Given the description of an element on the screen output the (x, y) to click on. 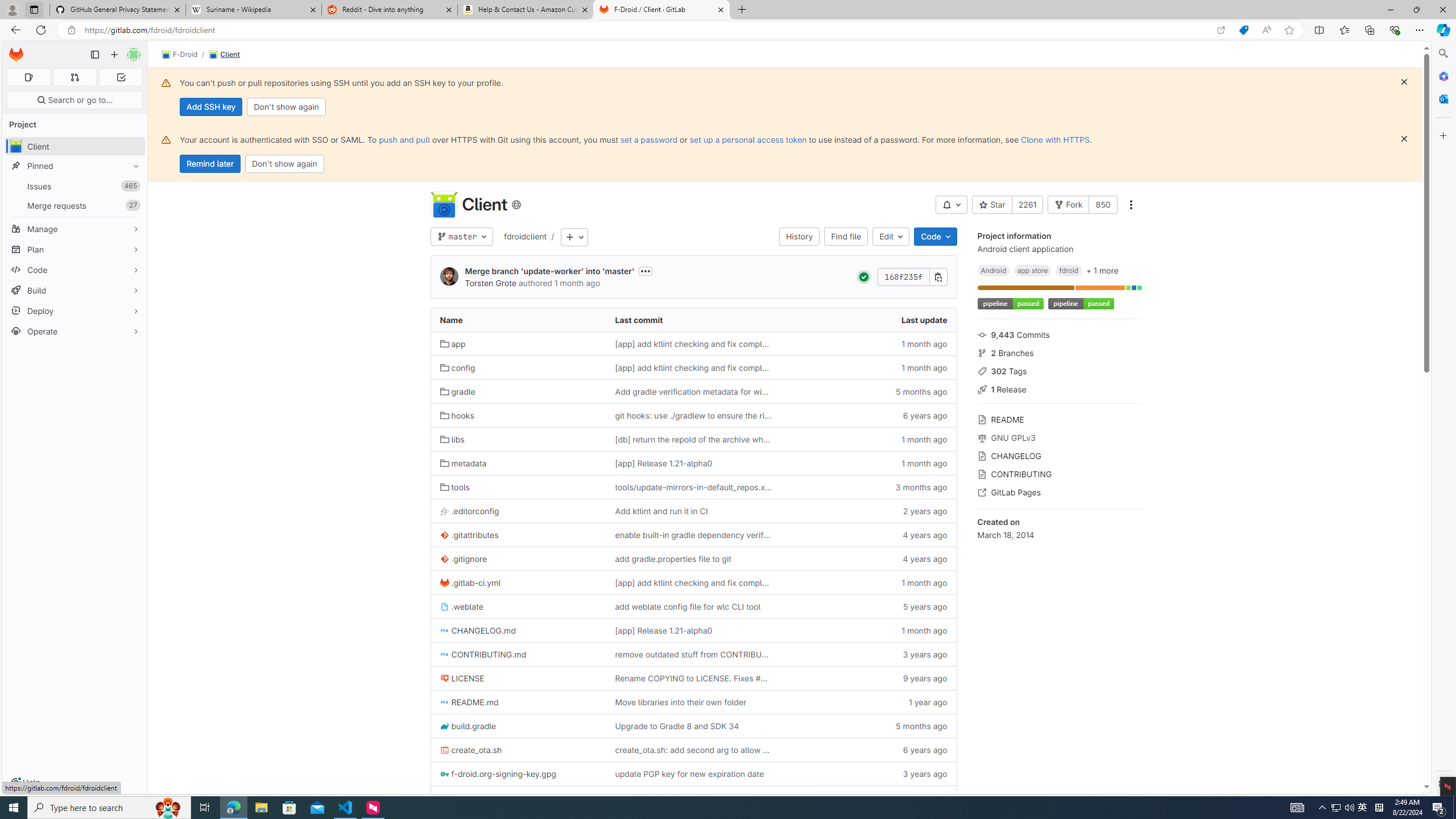
Code (935, 236)
Move libraries into their own folder (680, 702)
2 Branches (1058, 351)
GNU GPLv3 (1058, 437)
AutomationID: __BVID__332__BV_toggle_ (952, 204)
2 years ago (868, 510)
hooks (517, 414)
metadata (462, 463)
Upgrade to Gradle 8 and SDK 34 (693, 725)
Last update (868, 319)
config (517, 367)
.weblate (461, 606)
